Given the description of an element on the screen output the (x, y) to click on. 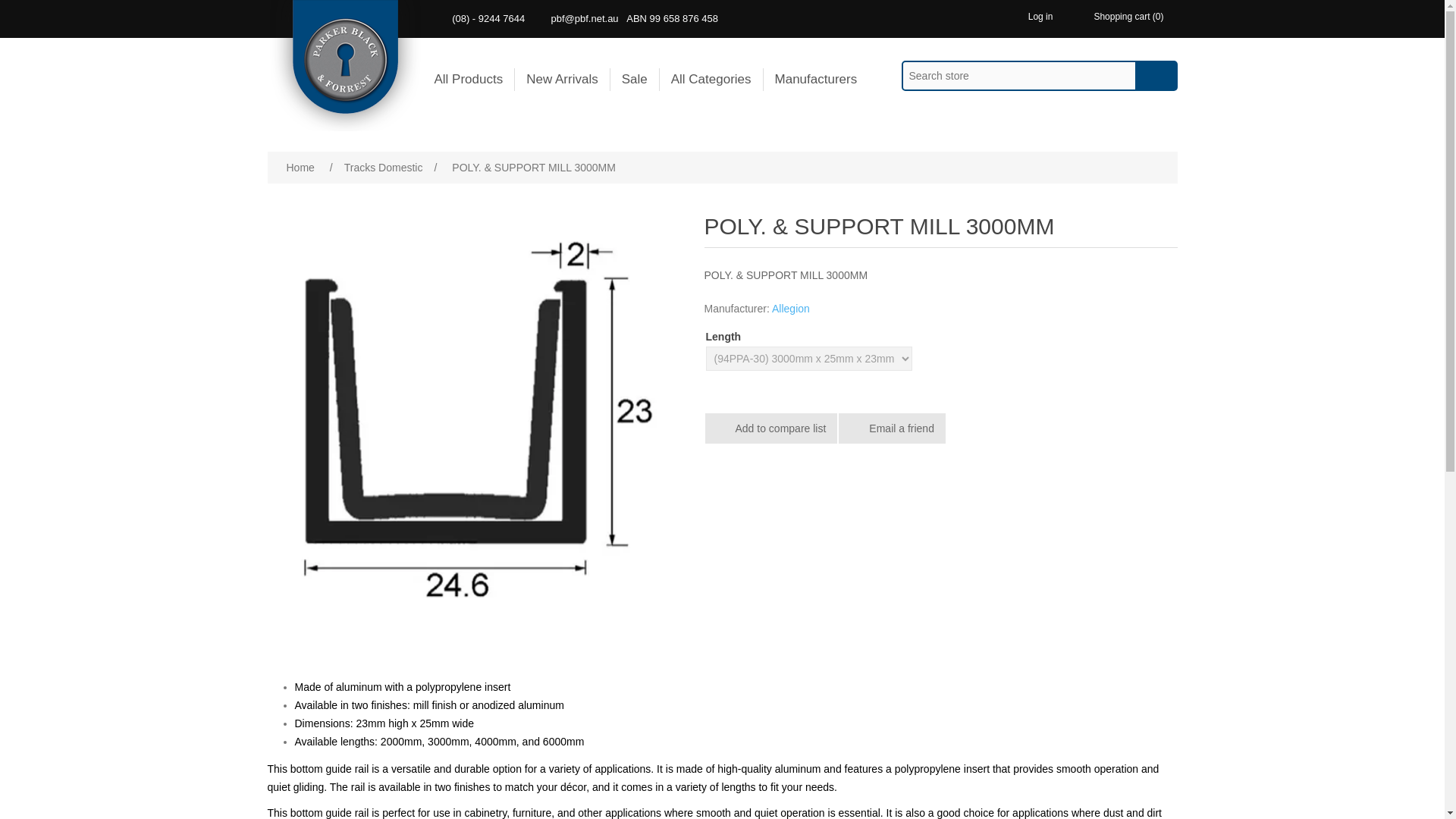
Email a friend (891, 428)
Add to compare list (771, 428)
Manufacturers (815, 78)
All Products (468, 78)
Tracks Domestic (383, 166)
Sale (634, 78)
All Categories (710, 78)
New Arrivals (561, 78)
Home (299, 166)
Allegion (790, 307)
